Given the description of an element on the screen output the (x, y) to click on. 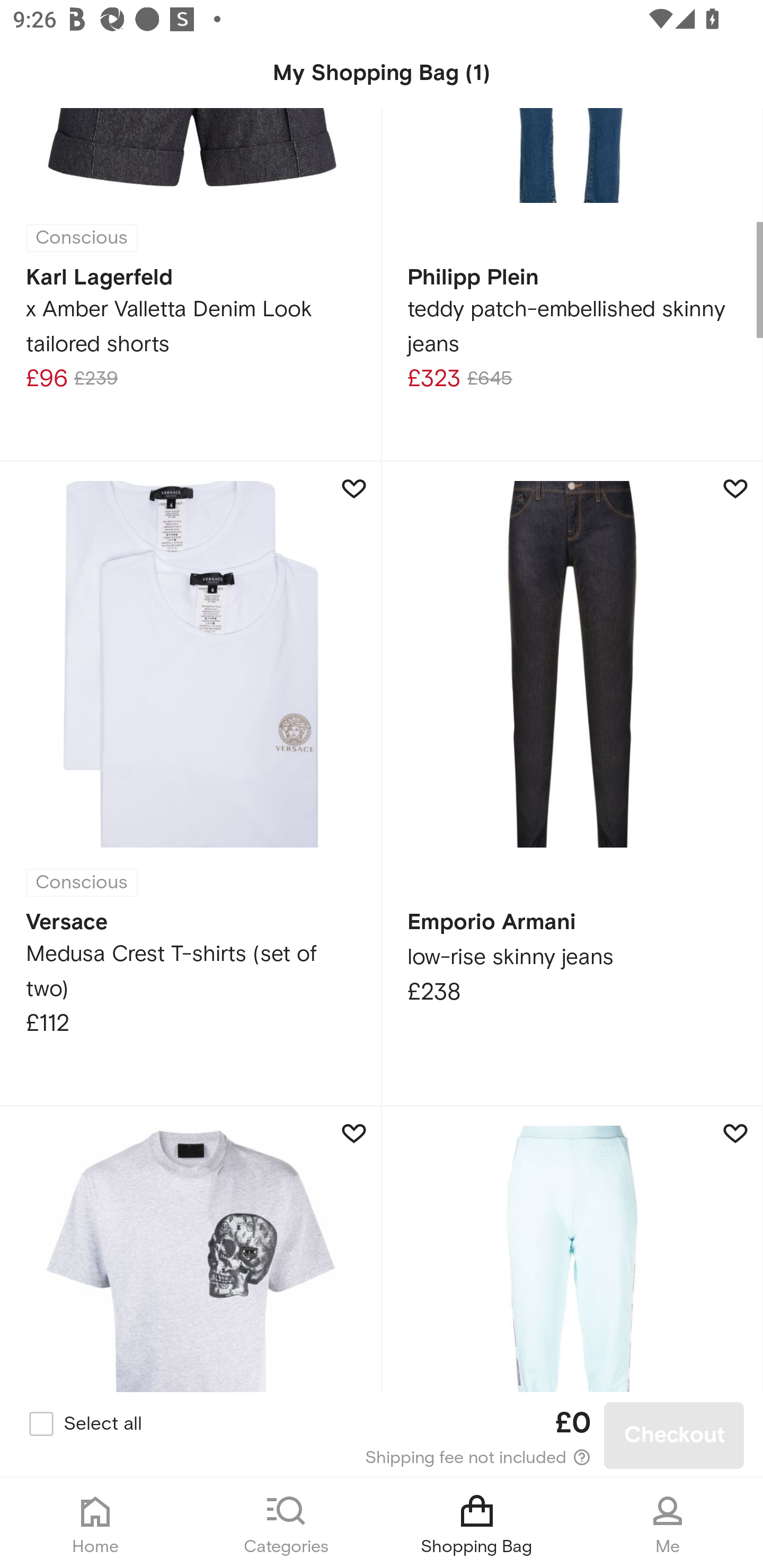
Emporio Armani low-rise skinny jeans  £238 (572, 783)
Philipp Plein (190, 1249)
Moschino (572, 1249)
£0 Shipping fee not included (382, 1435)
Checkout (673, 1435)
Home (95, 1523)
Categories (285, 1523)
Me (667, 1523)
